Given the description of an element on the screen output the (x, y) to click on. 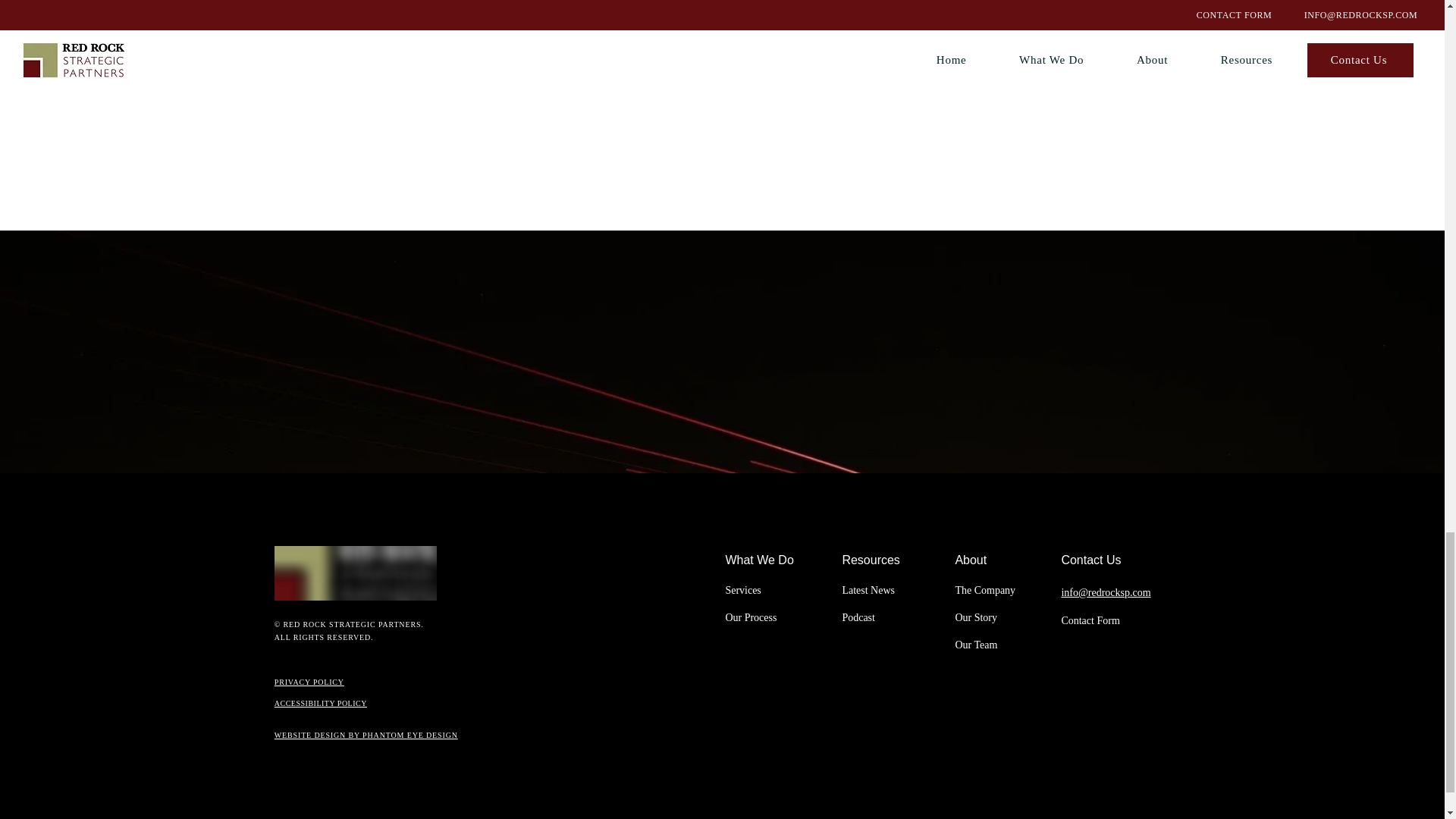
WEBSITE DESIGN BY PHANTOM EYE DESIGN (366, 735)
The Company (984, 590)
Our Process (750, 617)
Our Team (976, 644)
PRIVACY POLICY (309, 682)
Our Story (976, 617)
Services (742, 590)
Latest News (868, 590)
ACCESSIBILITY POLICY (320, 703)
